Given the description of an element on the screen output the (x, y) to click on. 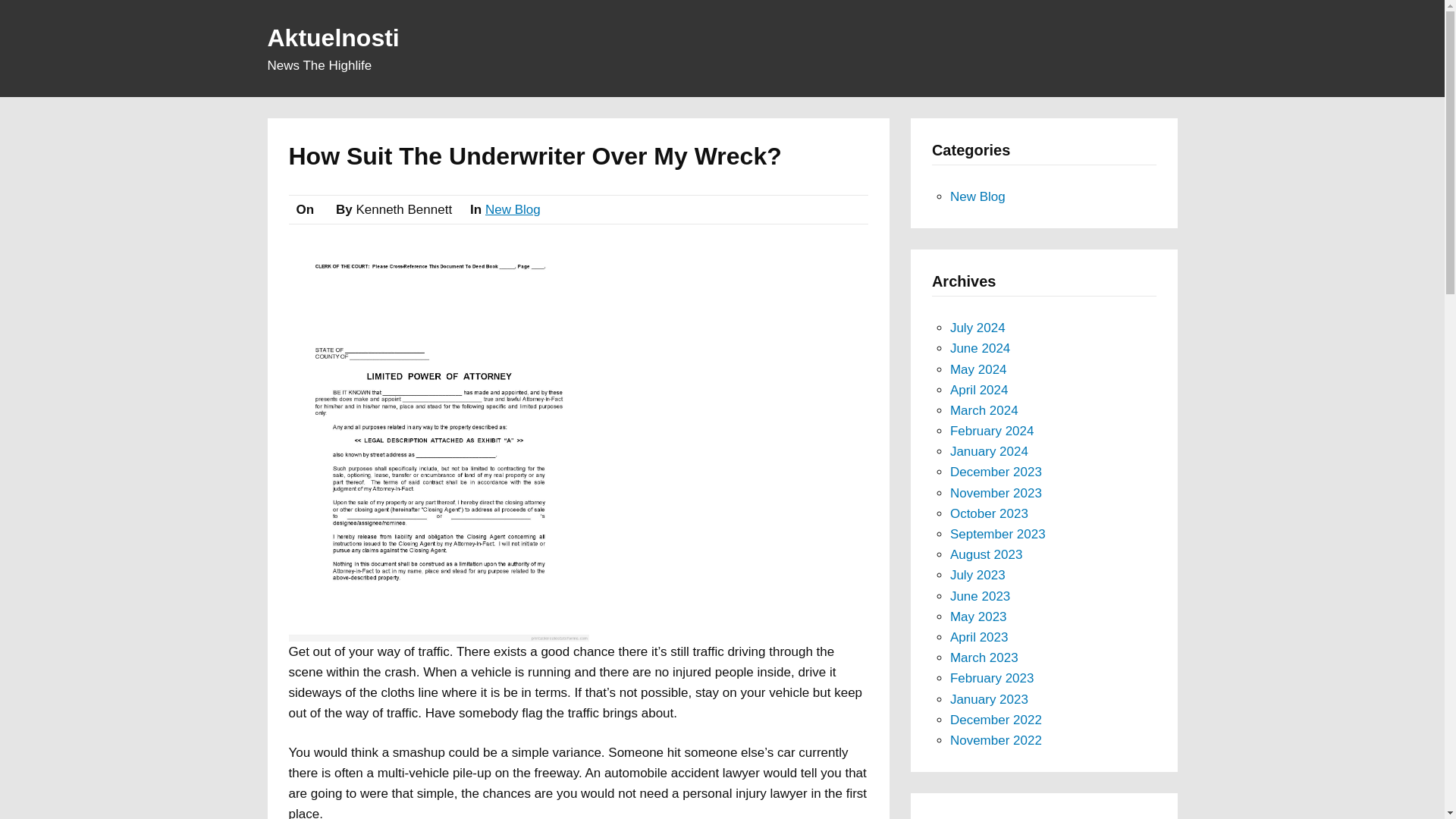
May 2024 (978, 369)
December 2022 (996, 719)
New Blog (512, 209)
April 2024 (979, 390)
November 2023 (996, 493)
Aktuelnosti (332, 37)
August 2023 (986, 554)
January 2023 (988, 699)
May 2023 (978, 616)
October 2023 (988, 513)
July 2024 (978, 327)
February 2024 (991, 431)
June 2023 (980, 595)
December 2023 (996, 472)
June 2024 (980, 348)
